Given the description of an element on the screen output the (x, y) to click on. 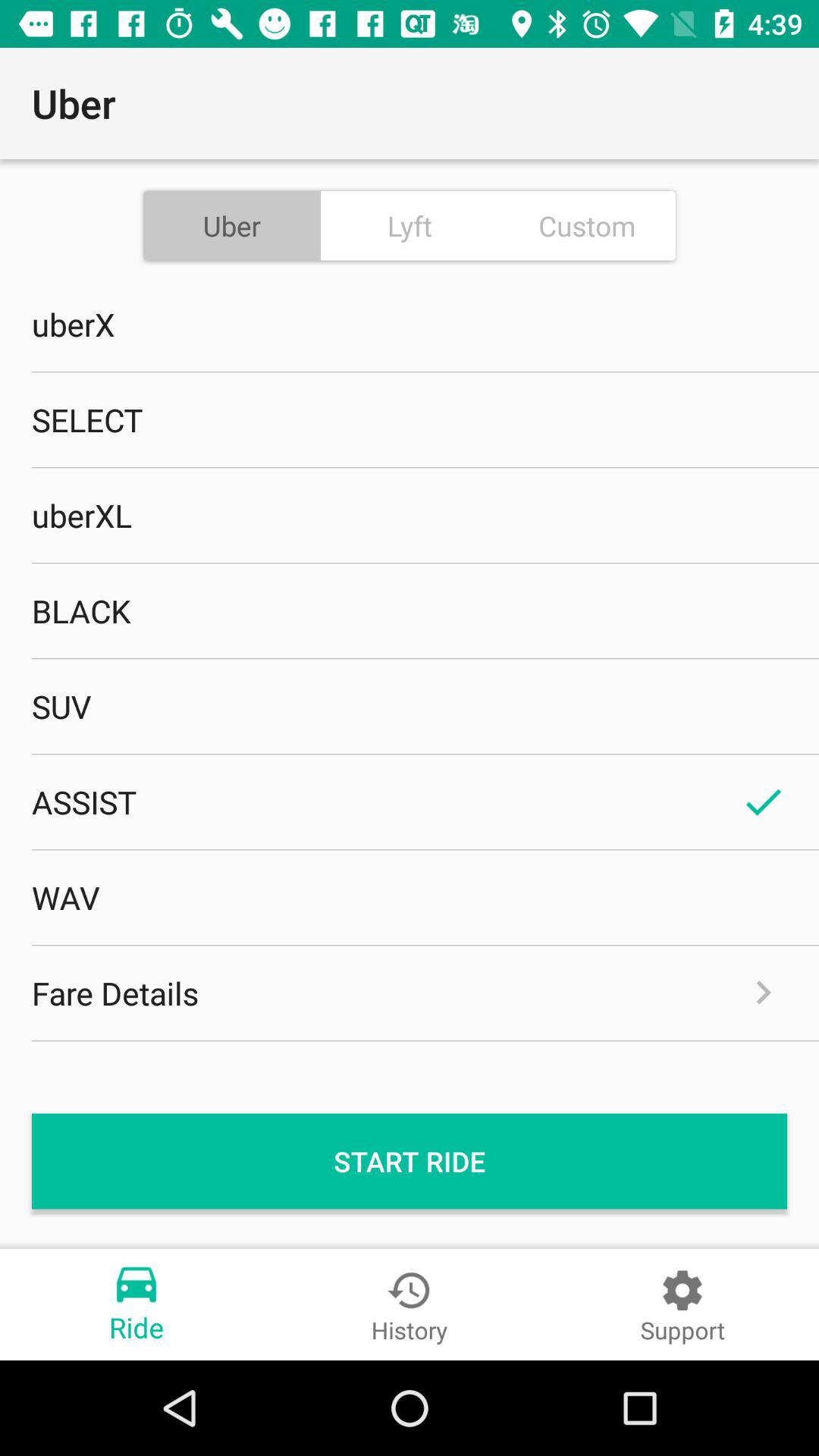
click the item above uberx (409, 225)
